Given the description of an element on the screen output the (x, y) to click on. 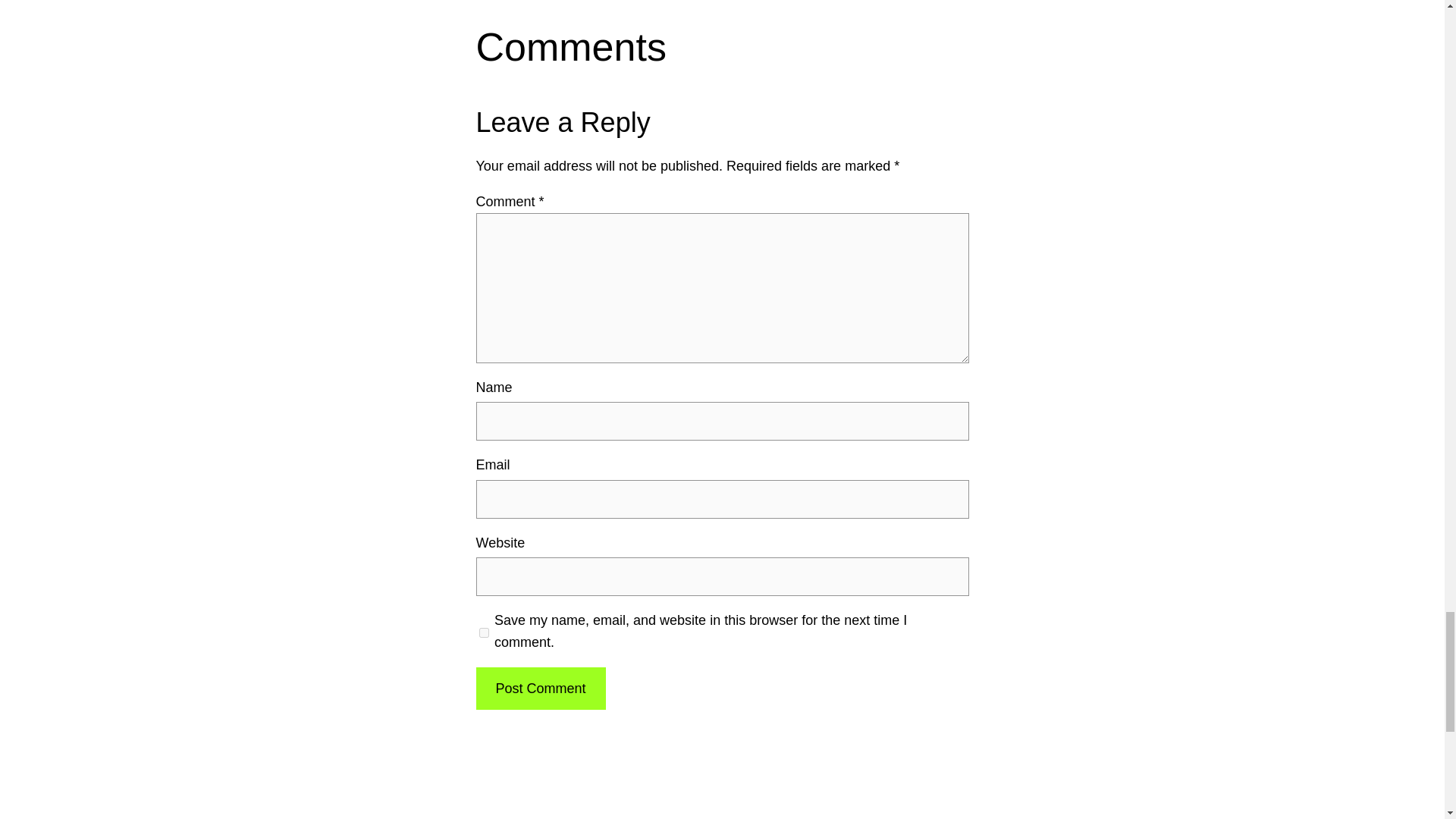
Post Comment (540, 688)
Post Comment (540, 688)
yes (484, 632)
